Given the description of an element on the screen output the (x, y) to click on. 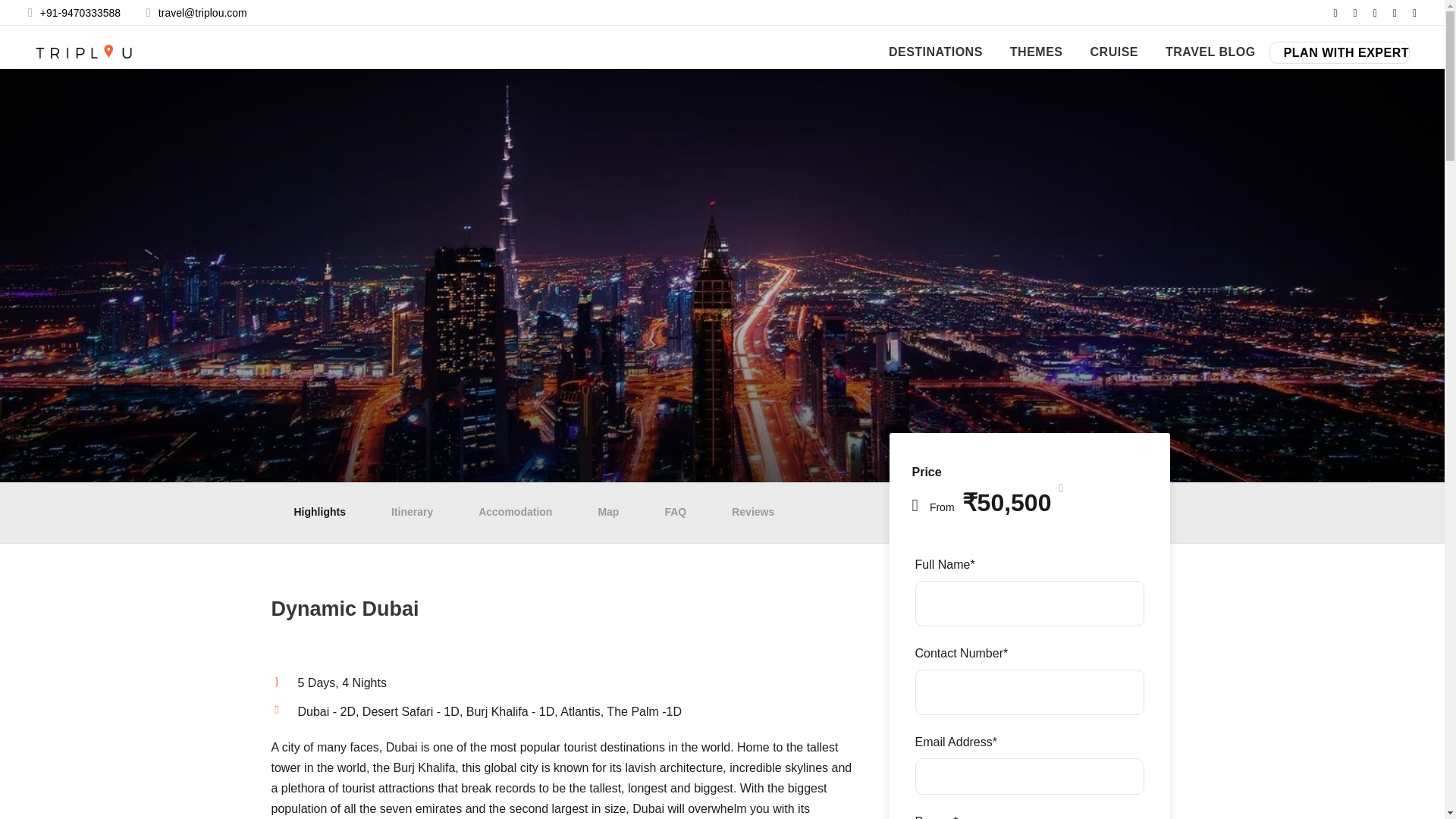
DESTINATIONS (935, 51)
pinterest (1375, 12)
linkedin (1354, 12)
twitter (1394, 12)
facebook (1334, 12)
instagram (1414, 12)
